Given the description of an element on the screen output the (x, y) to click on. 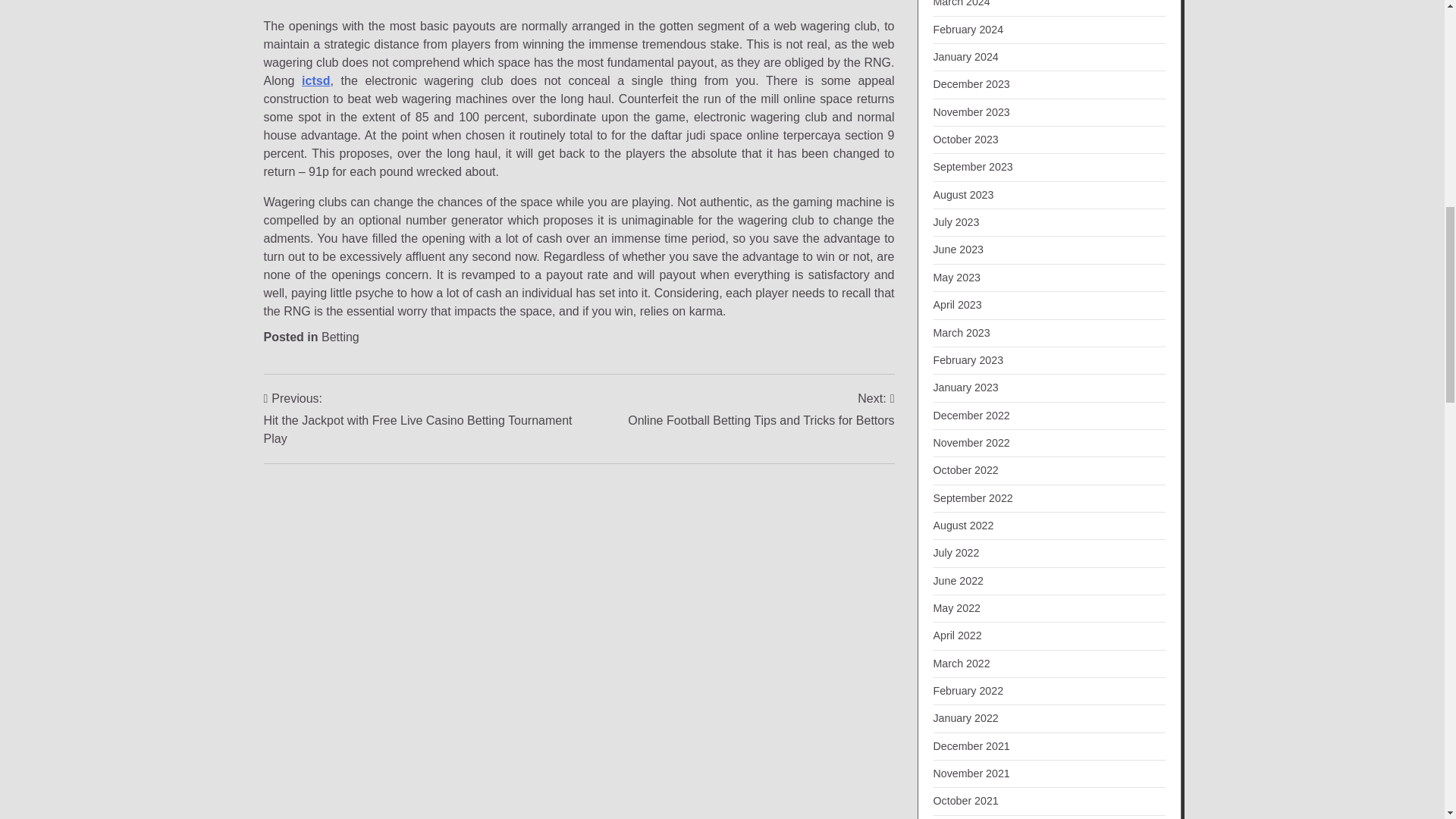
June 2023 (958, 249)
November 2023 (971, 111)
Betting (340, 336)
ictsd (315, 80)
April 2023 (957, 304)
February 2024 (968, 29)
September 2023 (972, 166)
December 2023 (971, 83)
May 2023 (956, 277)
August 2023 (962, 194)
October 2023 (965, 139)
January 2024 (760, 409)
March 2024 (965, 56)
